Given the description of an element on the screen output the (x, y) to click on. 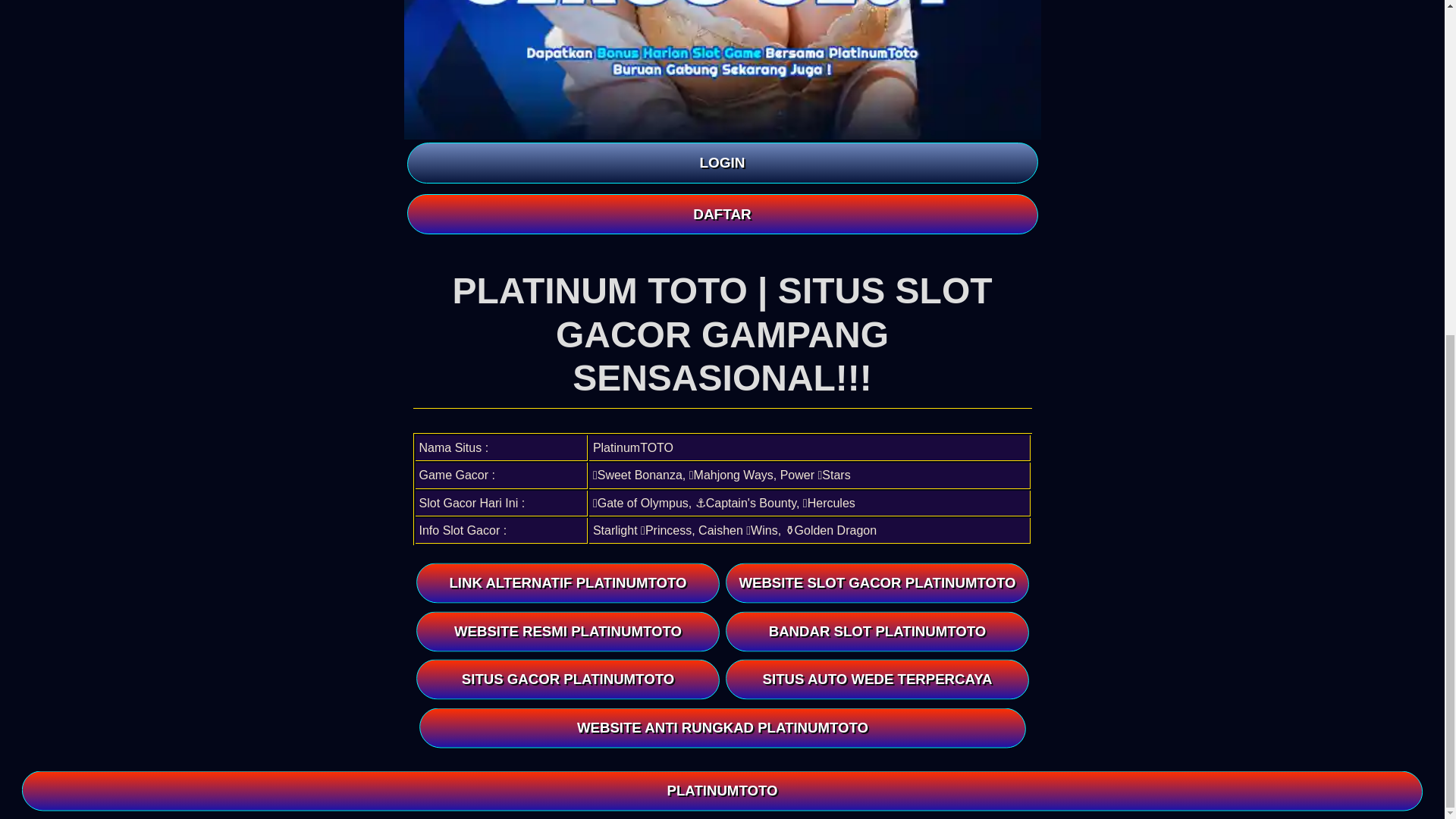
WEBSITE RESMI PLATINUMTOTO (569, 630)
BANDAR SLOT PLATINUMTOTO (878, 630)
LOGIN (721, 162)
LINK ALTERNATIF PLATINUMTOTO (570, 583)
SITUS GACOR PLATINUMTOTO (569, 680)
SITUS AUTO WEDE TERPERCAYA (877, 679)
DAFTAR (721, 214)
PLATINUMTOTO (726, 229)
WEBSITE SLOT GACOR PLATINUMTOTO (878, 582)
WEBSITE ANTI RUNGKAD PLATINUMTOTO (723, 727)
